Given the description of an element on the screen output the (x, y) to click on. 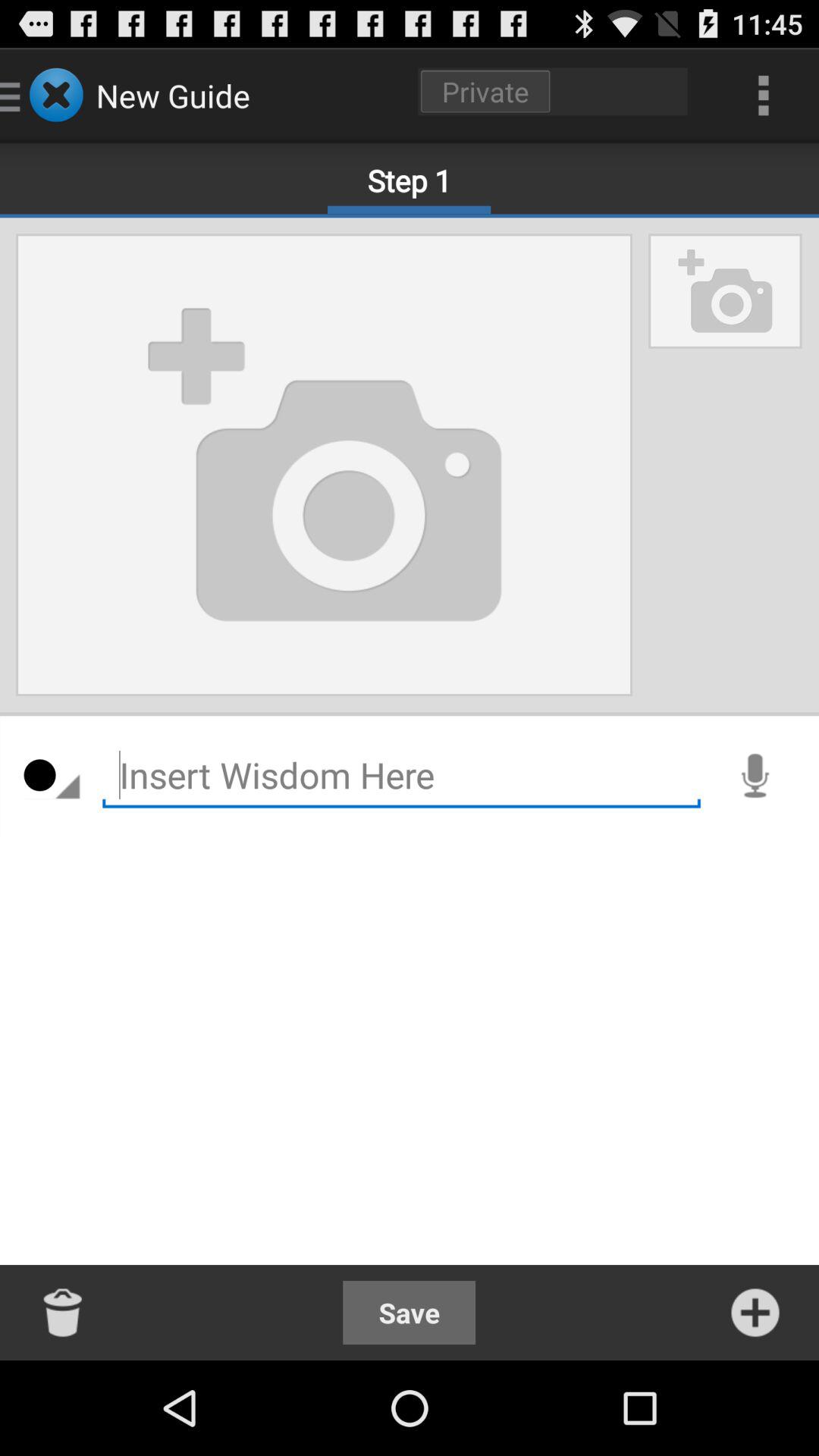
press the icon next to the new guide icon (552, 91)
